Given the description of an element on the screen output the (x, y) to click on. 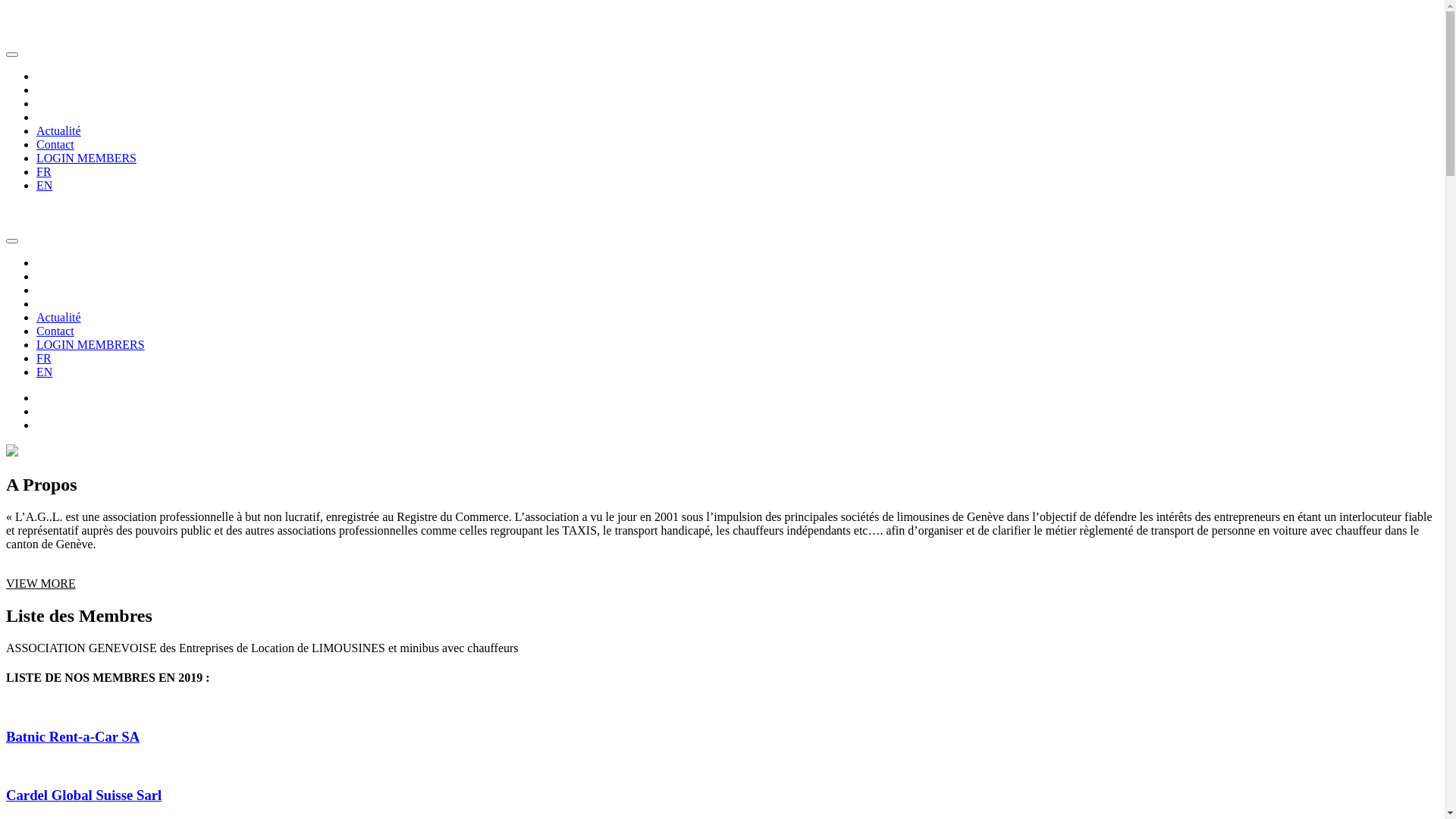
LOGIN MEMBERS Element type: text (86, 157)
FR Element type: text (43, 357)
Cardel Global Suisse Sarl Element type: text (722, 795)
VIEW MORE Element type: text (40, 583)
Contact Element type: text (55, 330)
FR Element type: text (43, 171)
LOGIN MEMBRERS Element type: text (90, 344)
Contact Element type: text (55, 144)
Batnic Rent-a-Car SA Element type: text (722, 736)
EN Element type: text (44, 184)
EN Element type: text (44, 371)
